Given the description of an element on the screen output the (x, y) to click on. 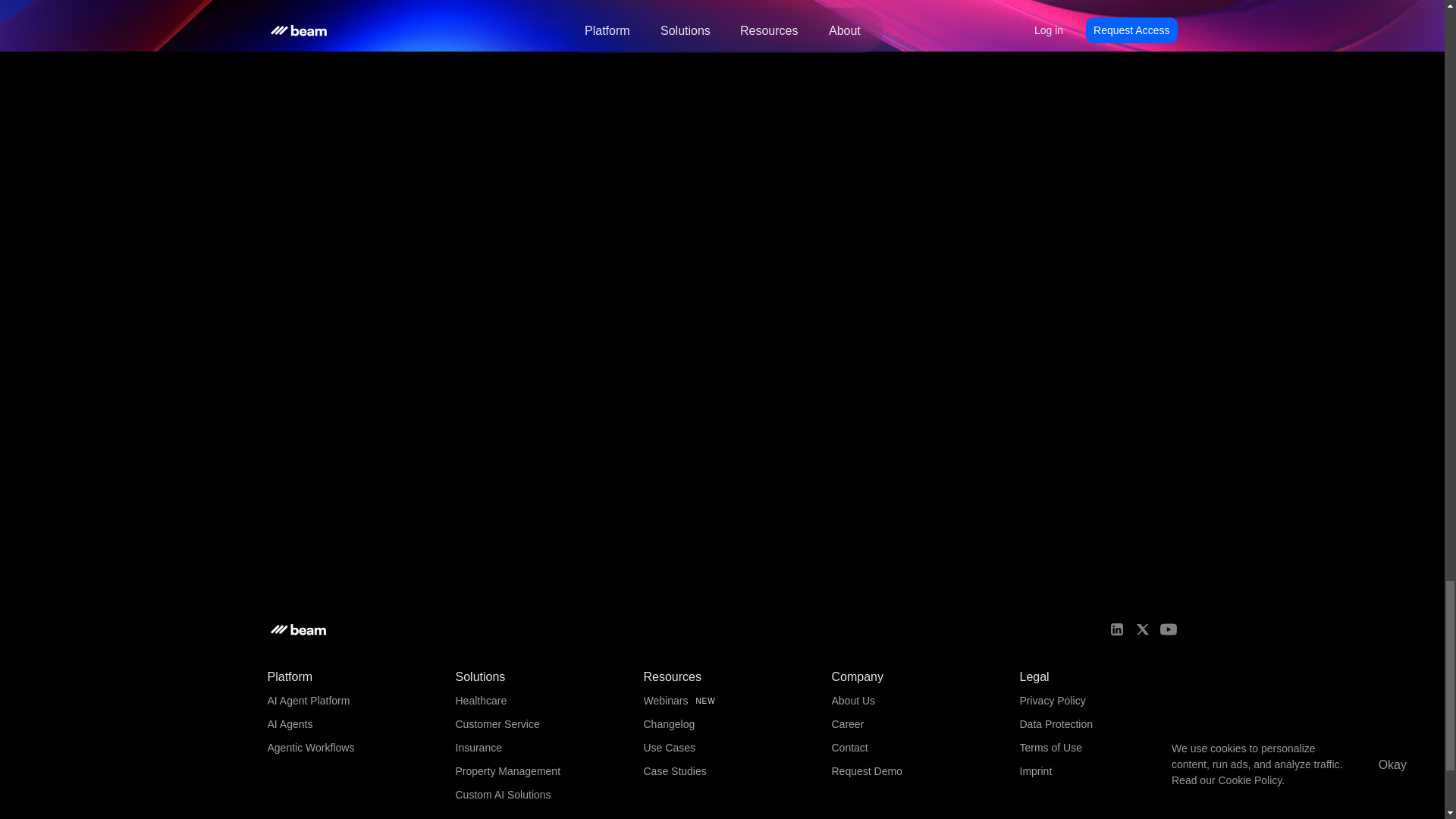
Property Management (507, 770)
Changelog (668, 724)
Healthcare (480, 700)
Request Demo (866, 770)
Agentic Workflows (309, 747)
Customer S (482, 724)
Webinars (665, 700)
Terms of Use (1050, 747)
AI Agent Platform (307, 700)
Custom AI Solutions (502, 794)
Case Studies (674, 770)
Contact (849, 747)
Insurance (477, 747)
Solutions (479, 676)
Privacy Policy (1051, 700)
